Given the description of an element on the screen output the (x, y) to click on. 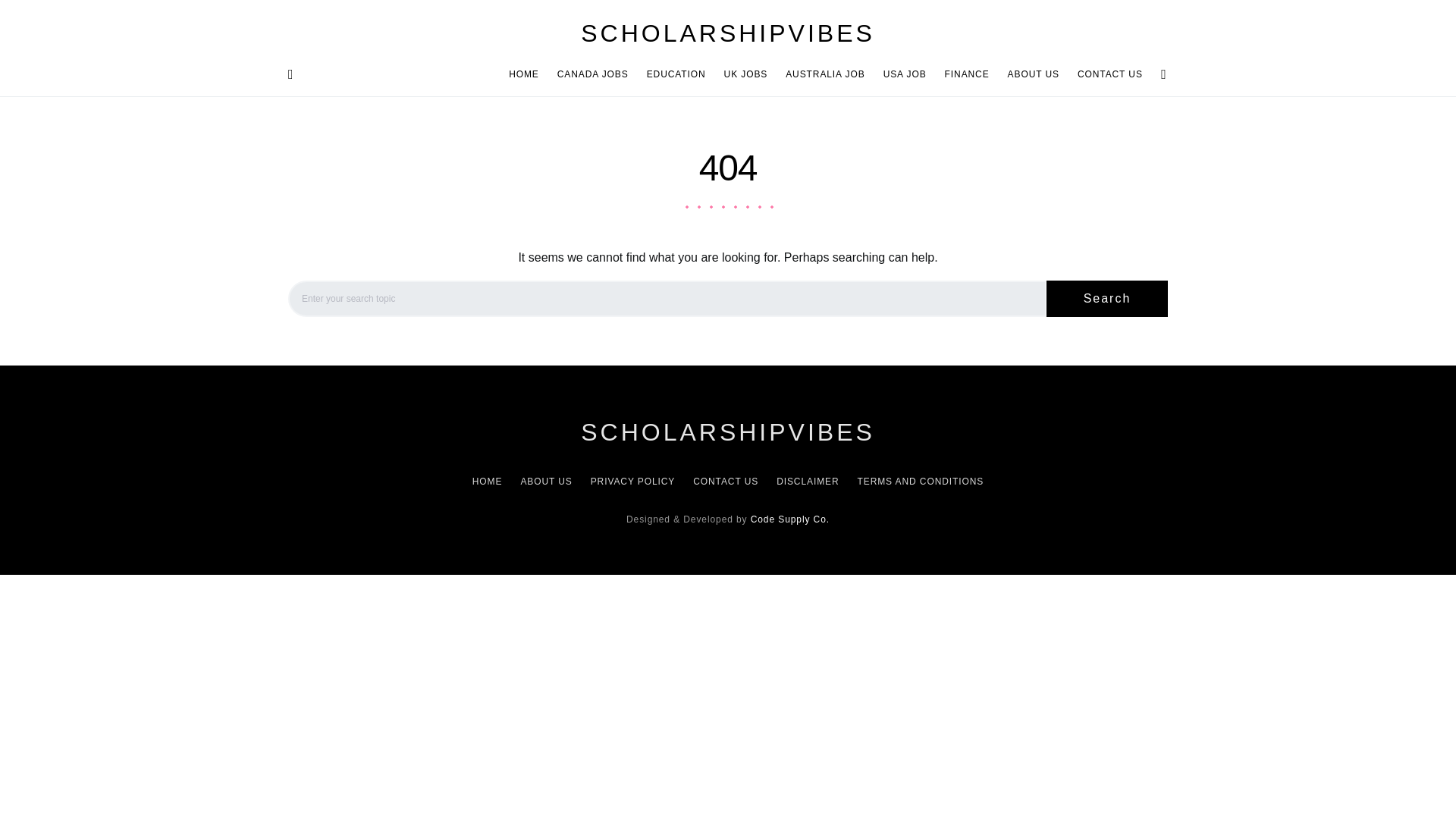
CANADA JOBS (592, 74)
USA JOB (905, 74)
SCHOLARSHIPVIBES (727, 33)
AUSTRALIA JOB (824, 74)
CONTACT US (1105, 74)
ABOUT US (1033, 74)
UK JOBS (745, 74)
EDUCATION (675, 74)
FINANCE (967, 74)
